Given the description of an element on the screen output the (x, y) to click on. 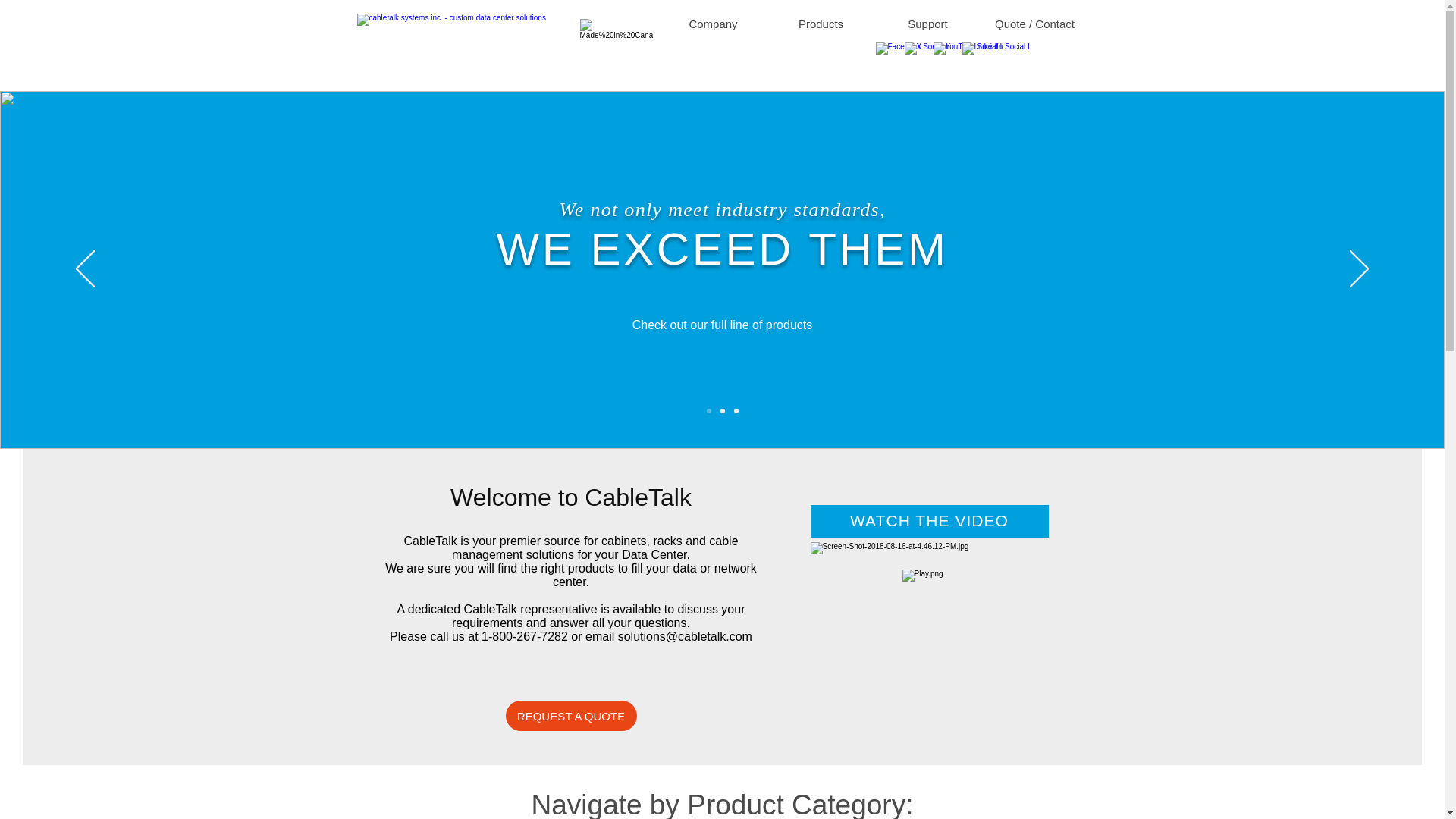
Company (713, 23)
Products (821, 23)
Support (926, 23)
Check out our full line of products (722, 325)
CableTalk logo (451, 35)
1-800-267-7282 (524, 635)
